Given the description of an element on the screen output the (x, y) to click on. 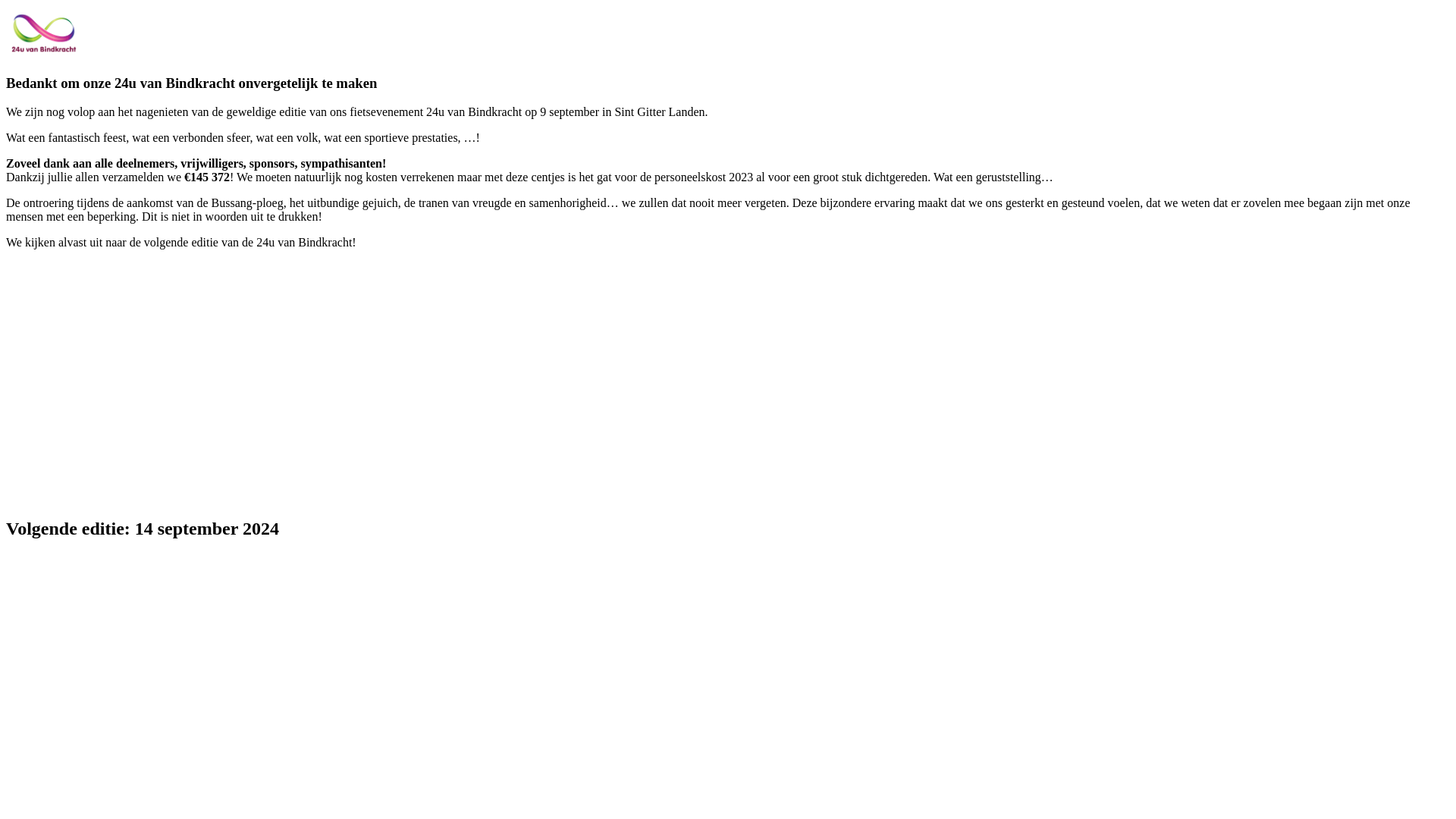
YouTube video player Element type: hover (218, 380)
